Given the description of an element on the screen output the (x, y) to click on. 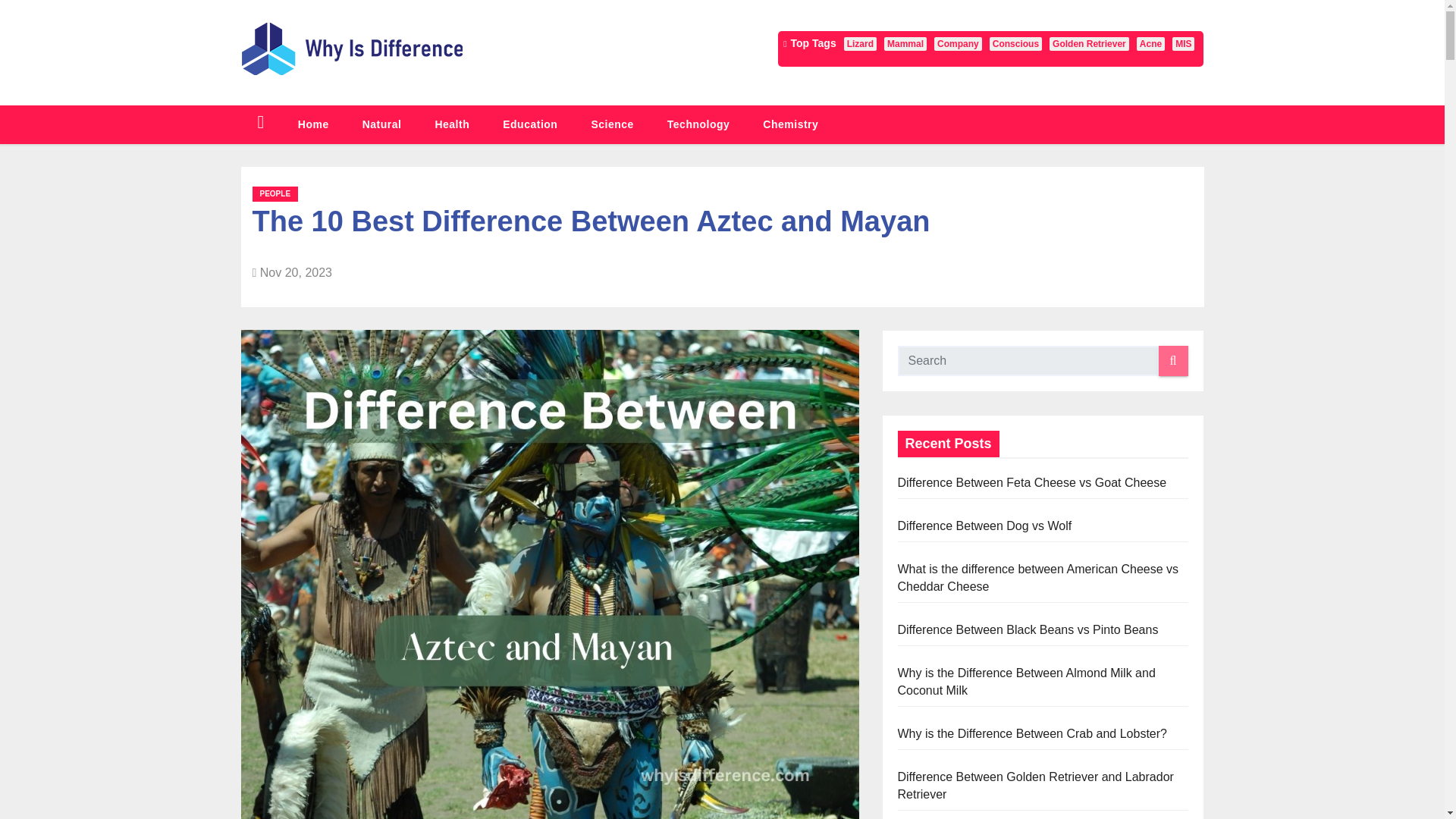
Mammal (904, 43)
Technology (698, 124)
Health (451, 124)
Education (529, 124)
Home (313, 124)
Home (261, 124)
Lizard (860, 43)
MIS (1182, 43)
Natural (382, 124)
Golden Retriever (1089, 43)
Chemistry (789, 124)
Home (313, 124)
Education (529, 124)
Chemistry (789, 124)
PEOPLE (274, 193)
